Given the description of an element on the screen output the (x, y) to click on. 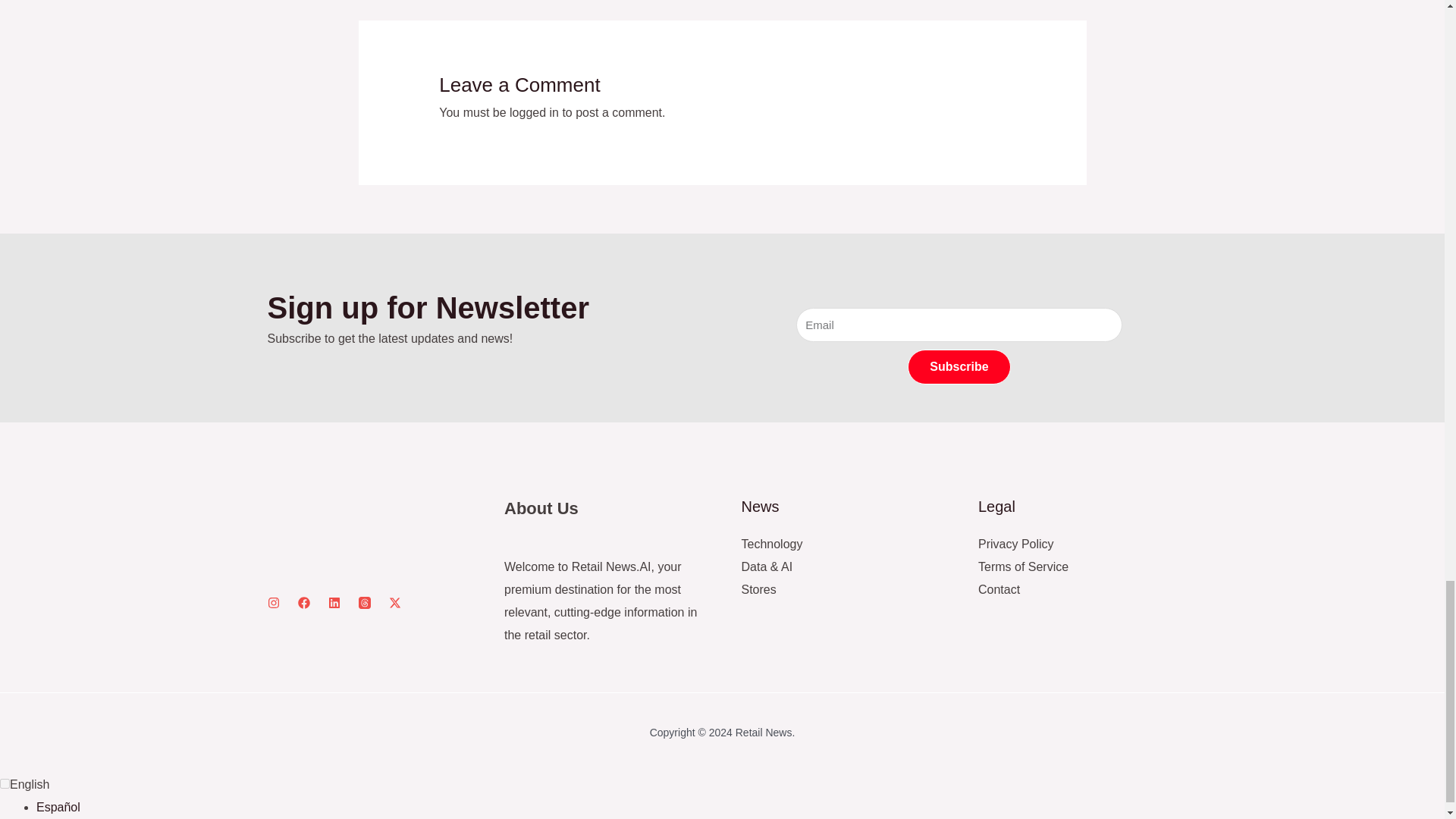
Language switcher : Spanish (58, 807)
on (5, 783)
